Given the description of an element on the screen output the (x, y) to click on. 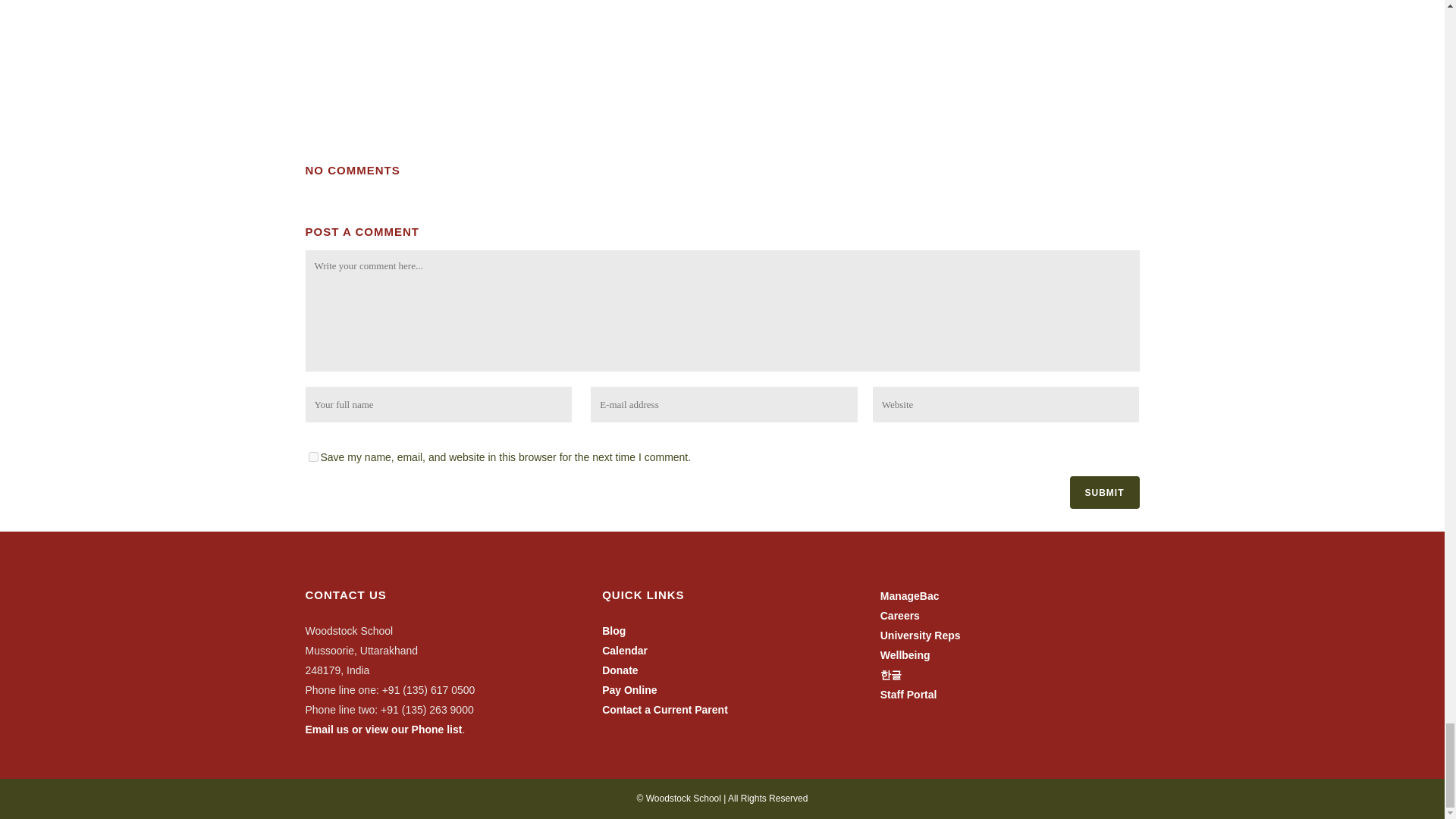
A Taste of the Woodstock School Reunion in Tempe, Arizona (706, 48)
yes (312, 456)
Submit (1103, 491)
